Given the description of an element on the screen output the (x, y) to click on. 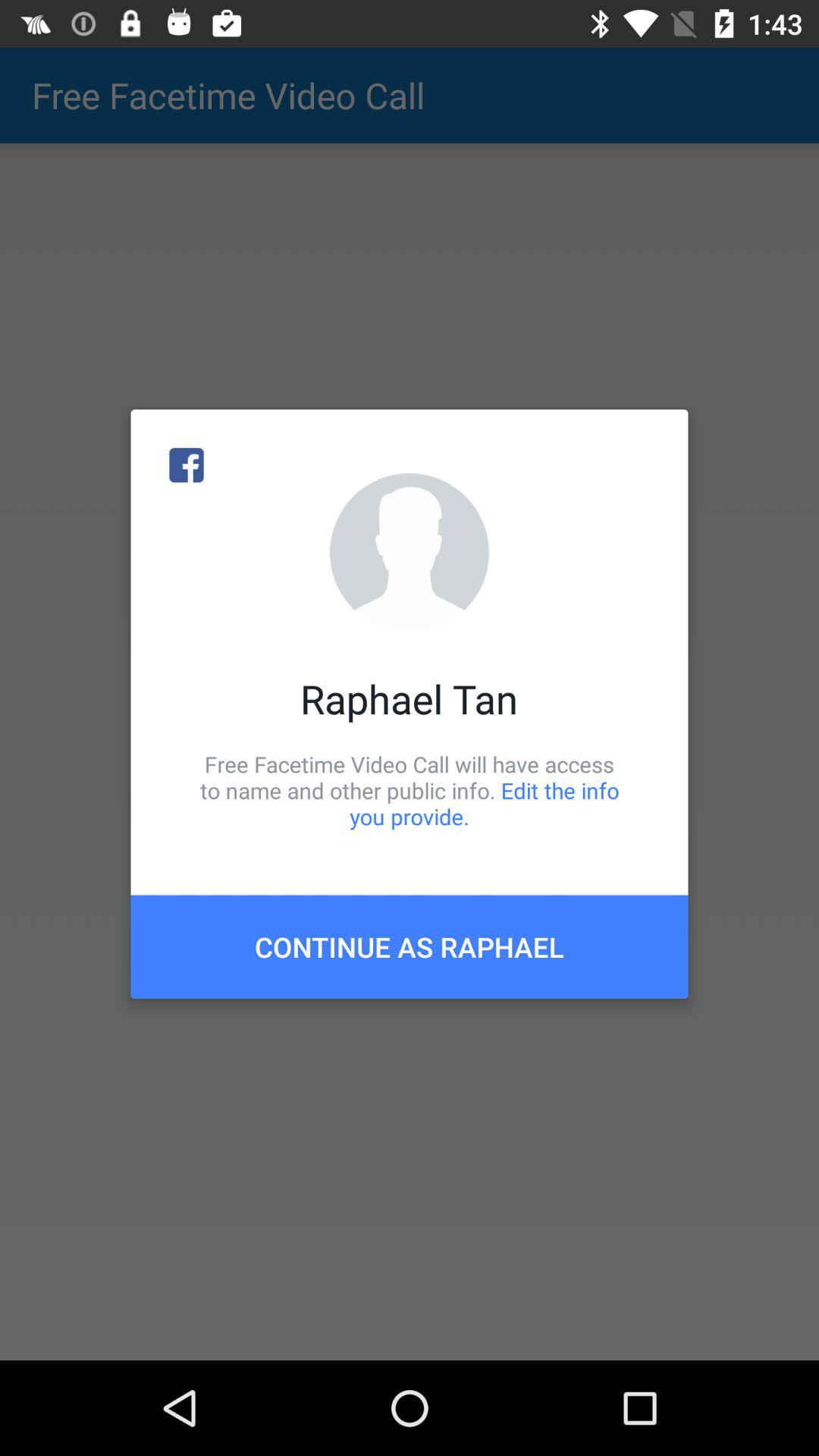
select the continue as raphael (409, 946)
